Given the description of an element on the screen output the (x, y) to click on. 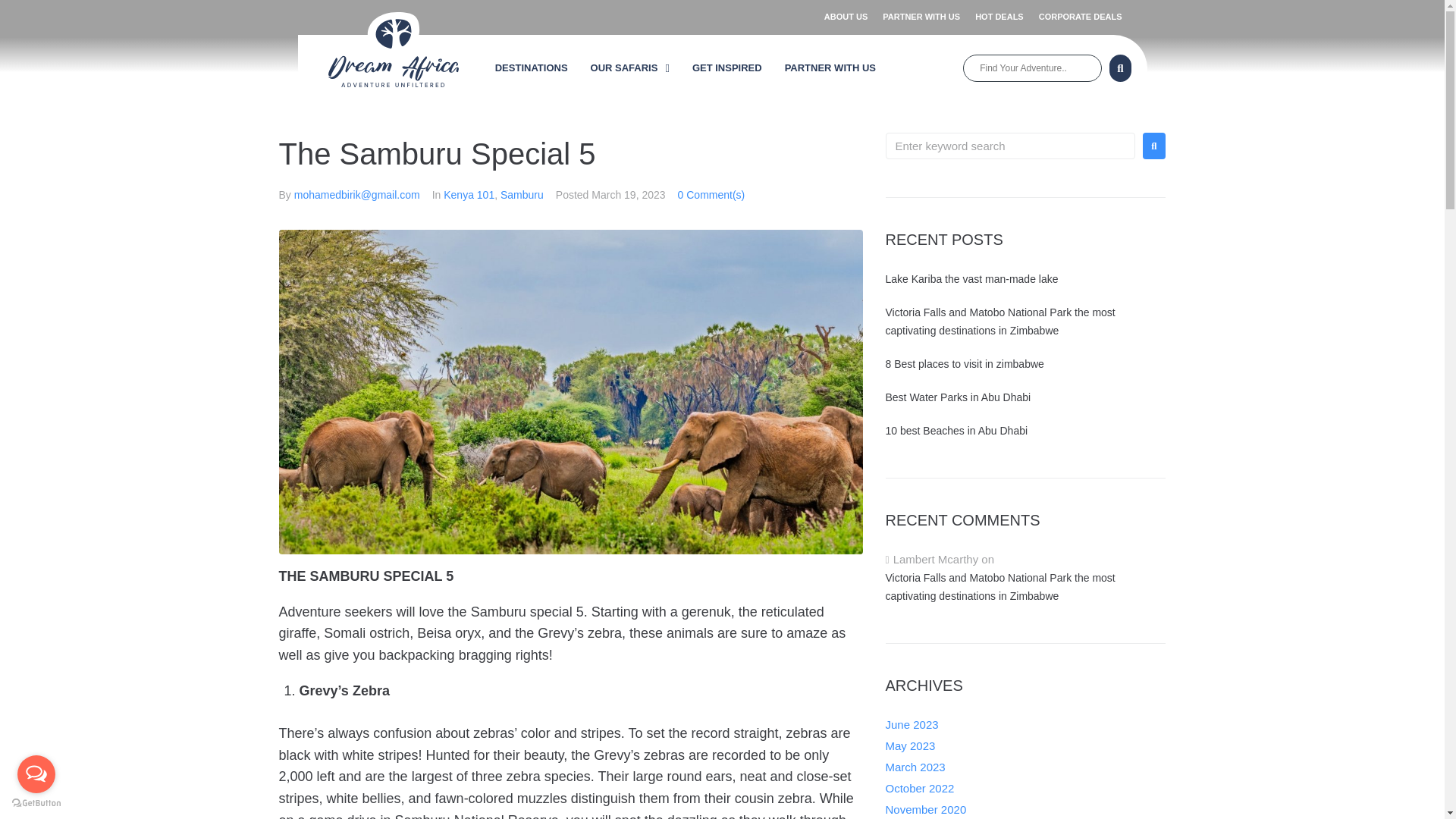
8 Best places to visit in zimbabwe (964, 363)
OUR SAFARIS (636, 68)
PARTNER WITH US (836, 68)
Kenya 101 (469, 194)
DESTINATIONS (538, 68)
PARTNER WITH US (924, 17)
June 2023 (912, 724)
May 2023 (910, 745)
Samburu (521, 194)
Lake Kariba the vast man-made lake (971, 278)
